Given the description of an element on the screen output the (x, y) to click on. 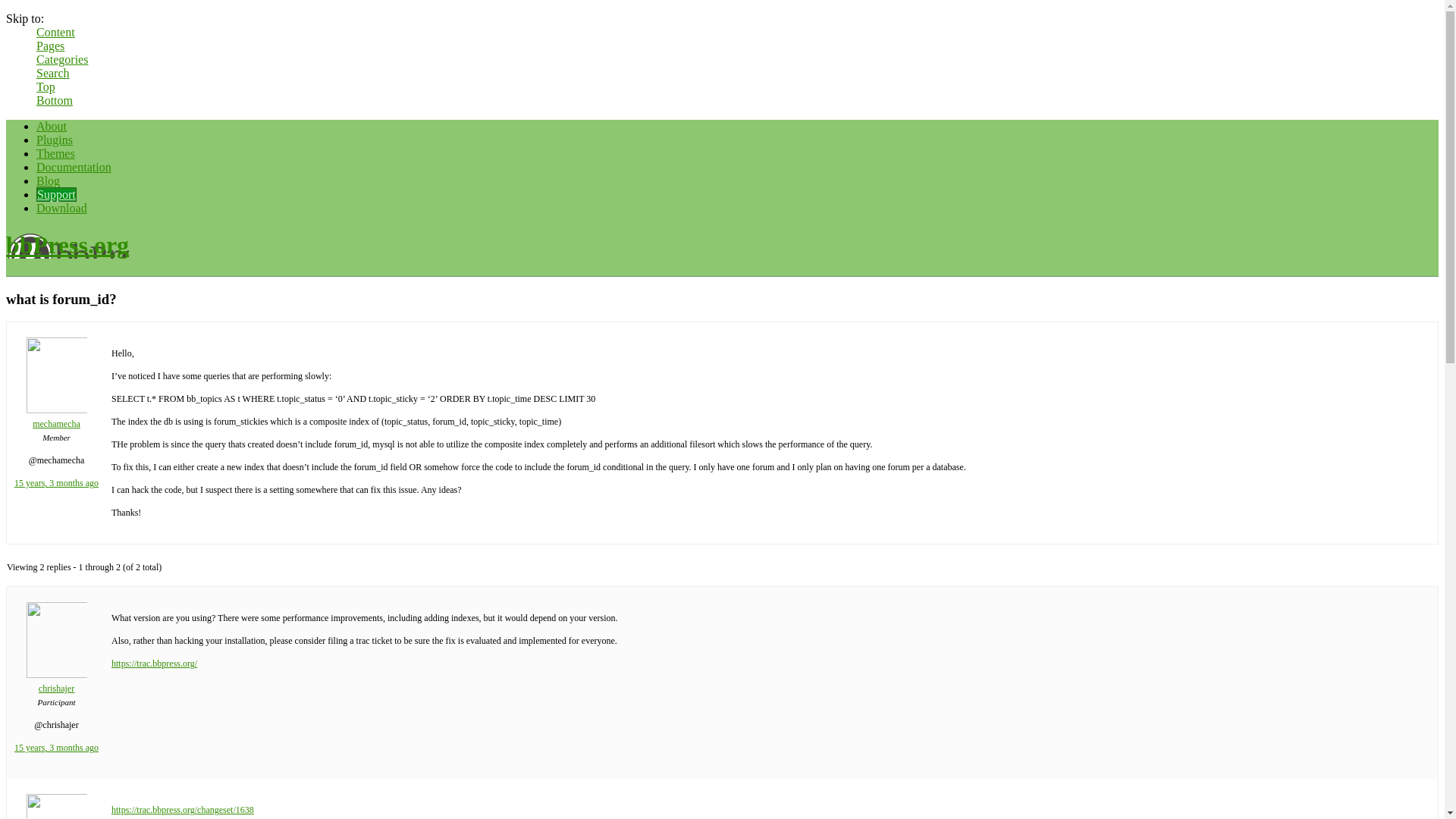
Bottom (54, 100)
Top (45, 86)
Search (52, 72)
Download (61, 221)
chrishajer (74, 811)
Content (55, 31)
Documentation (74, 180)
Pages (50, 45)
About (51, 139)
mechamecha (74, 414)
